Given the description of an element on the screen output the (x, y) to click on. 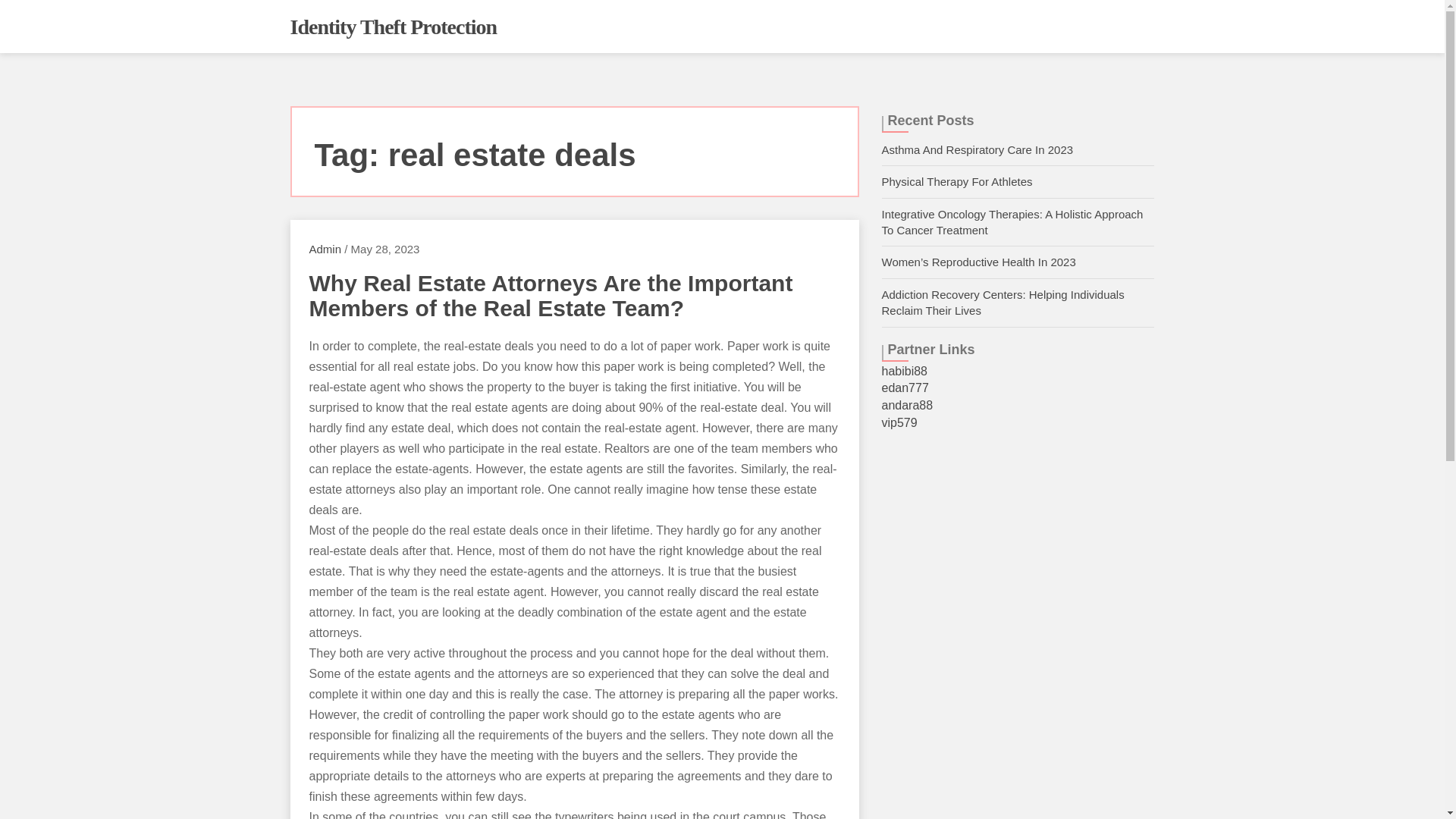
Asthma And Respiratory Care In 2023 (976, 149)
Identity Theft Protection (392, 26)
andara88 (906, 404)
Admin (325, 248)
vip579 (898, 422)
habibi88 (903, 370)
Physical Therapy For Athletes (956, 181)
edan777 (904, 387)
